Given the description of an element on the screen output the (x, y) to click on. 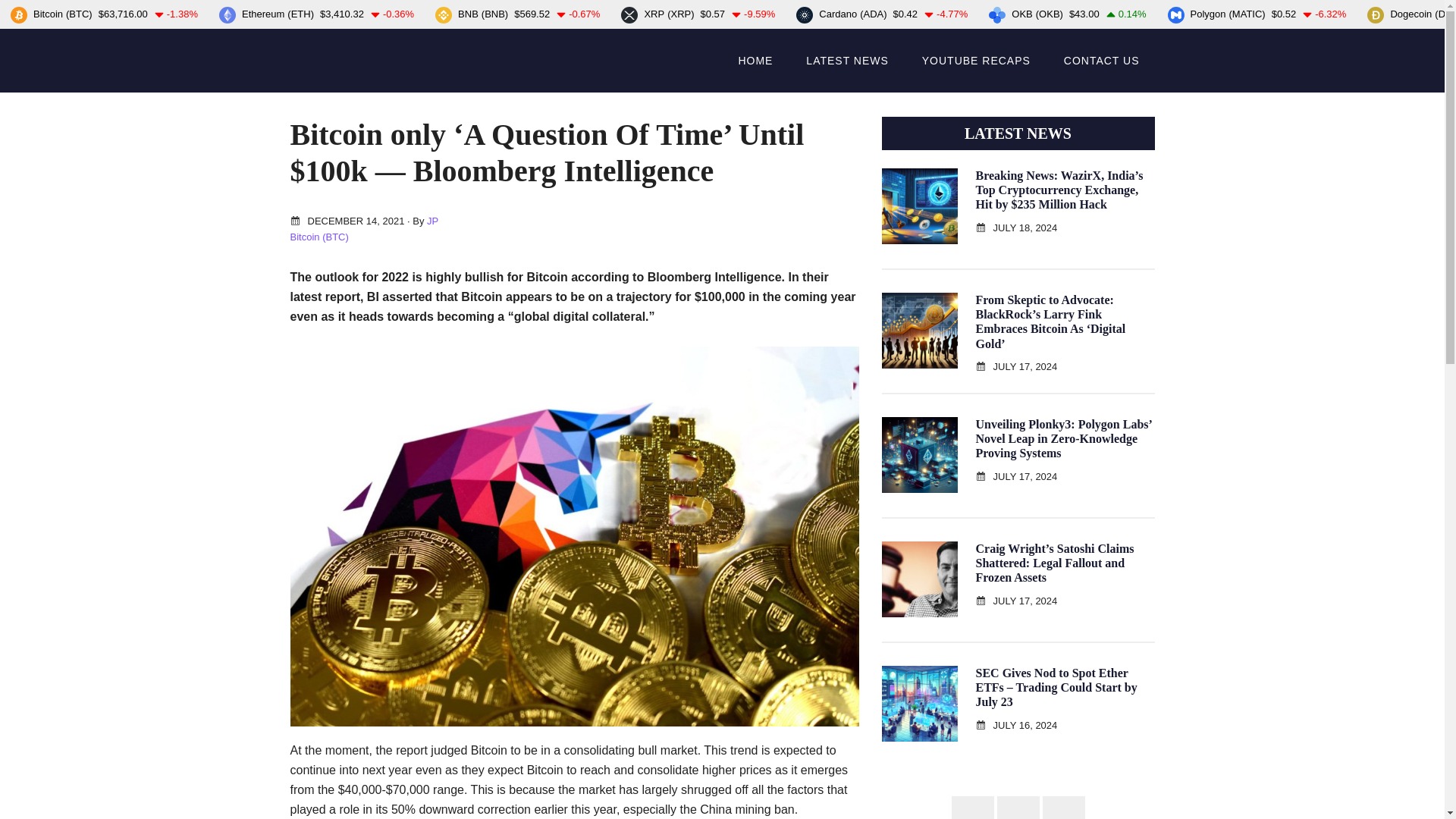
HOME (754, 60)
JP (432, 220)
YOUTUBE RECAPS (976, 60)
LATEST NEWS (847, 60)
CONTACT US (1101, 60)
